Given the description of an element on the screen output the (x, y) to click on. 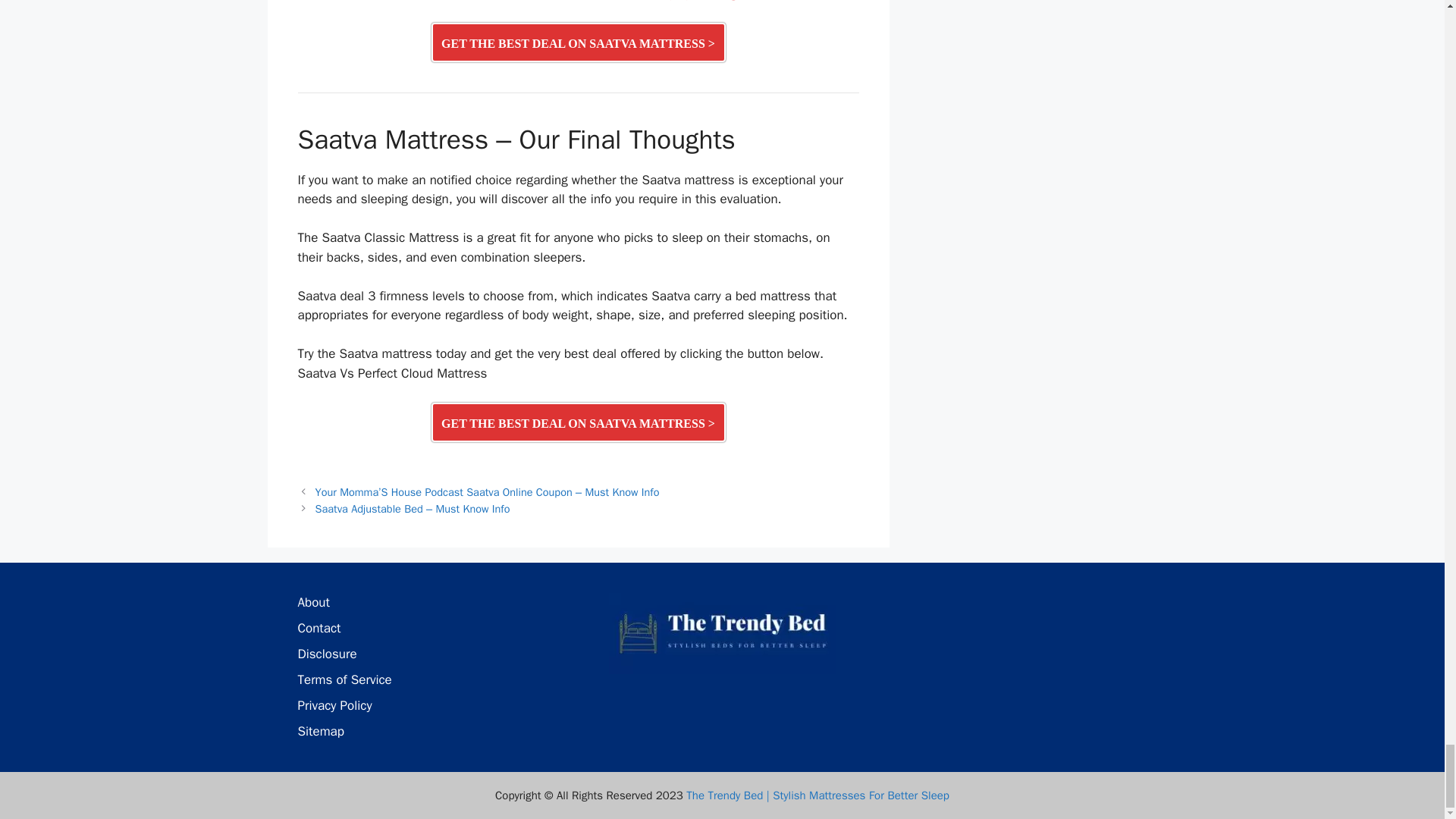
Contact (318, 627)
About (313, 602)
